Given the description of an element on the screen output the (x, y) to click on. 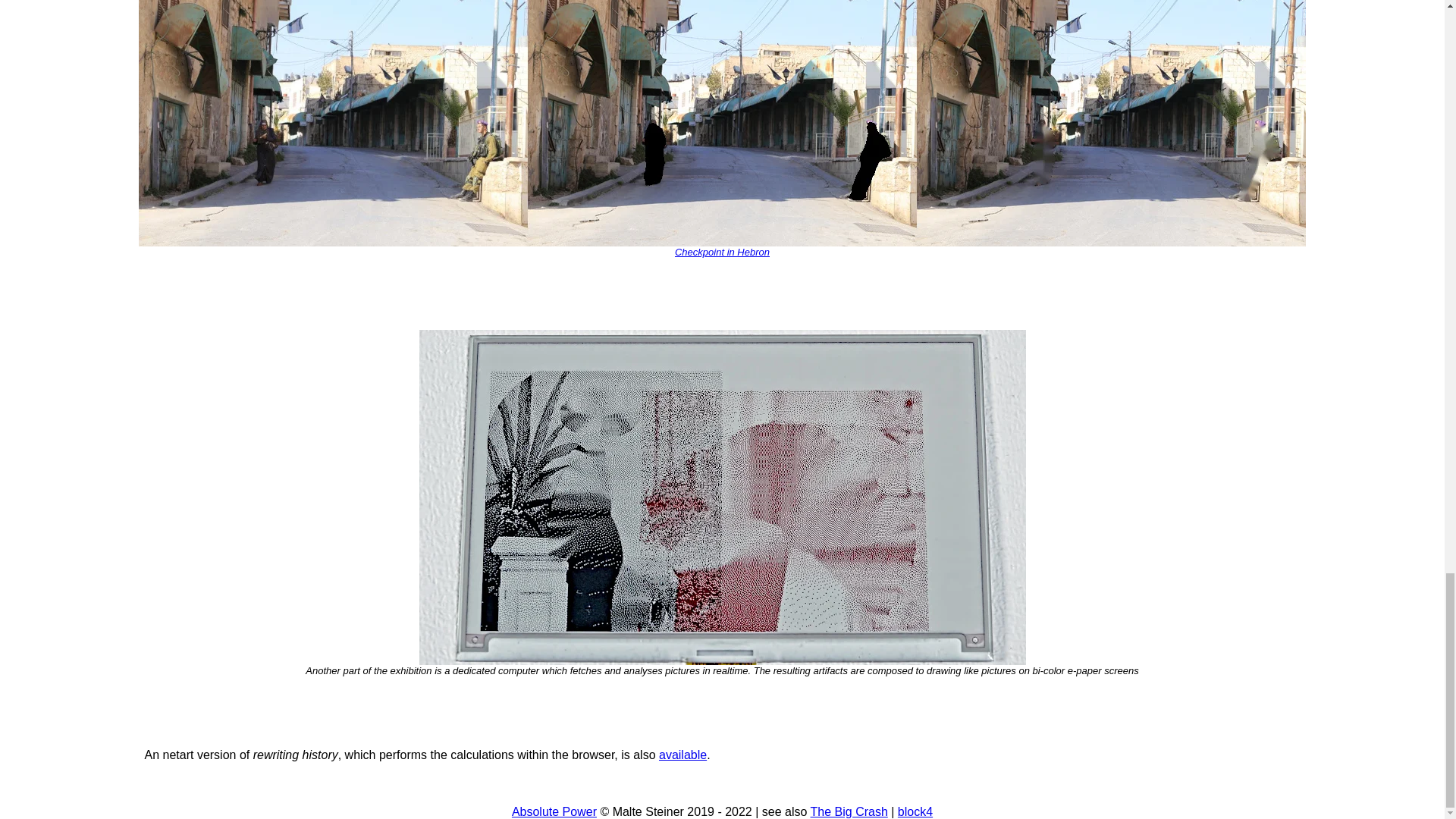
available (682, 754)
Absolute Power (554, 811)
The Big Crash (849, 811)
Checkpoint in Hebron (722, 251)
block4 (915, 811)
